Given the description of an element on the screen output the (x, y) to click on. 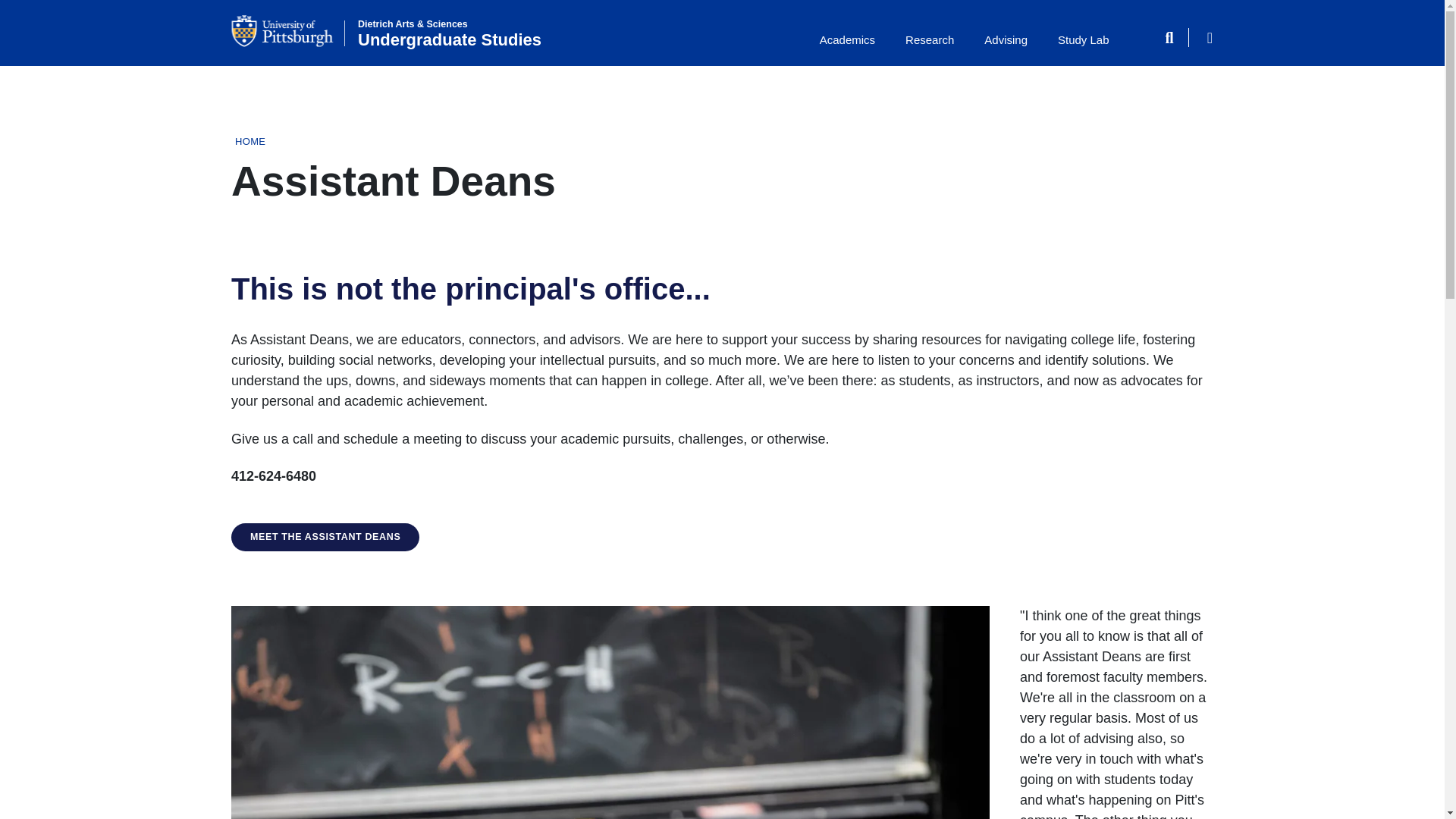
HOME (249, 140)
Study Lab (1083, 41)
MEET THE ASSISTANT DEANS (325, 537)
Advising (1004, 41)
Advising (1004, 41)
Pitt Home (288, 30)
Academics (847, 41)
Home (449, 33)
Research (929, 41)
Study Lab (1083, 41)
